Given the description of an element on the screen output the (x, y) to click on. 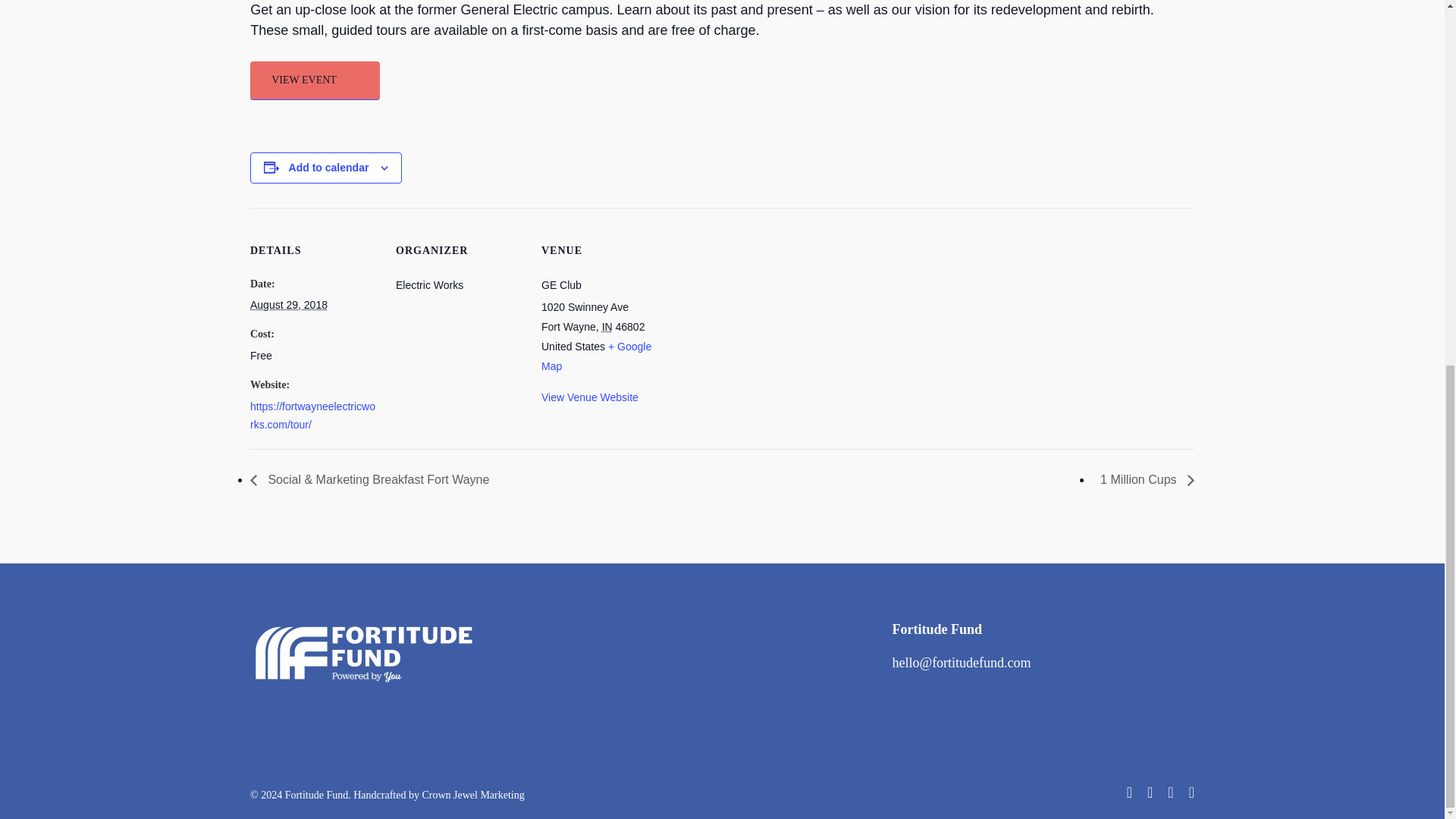
VIEW EVENT (315, 80)
Click to view a Google Map (595, 356)
1 Million Cups (1142, 479)
Add to calendar (328, 167)
2018-08-29 (288, 304)
Crown Jewel Marketing (473, 794)
View Venue Website (590, 397)
